Given the description of an element on the screen output the (x, y) to click on. 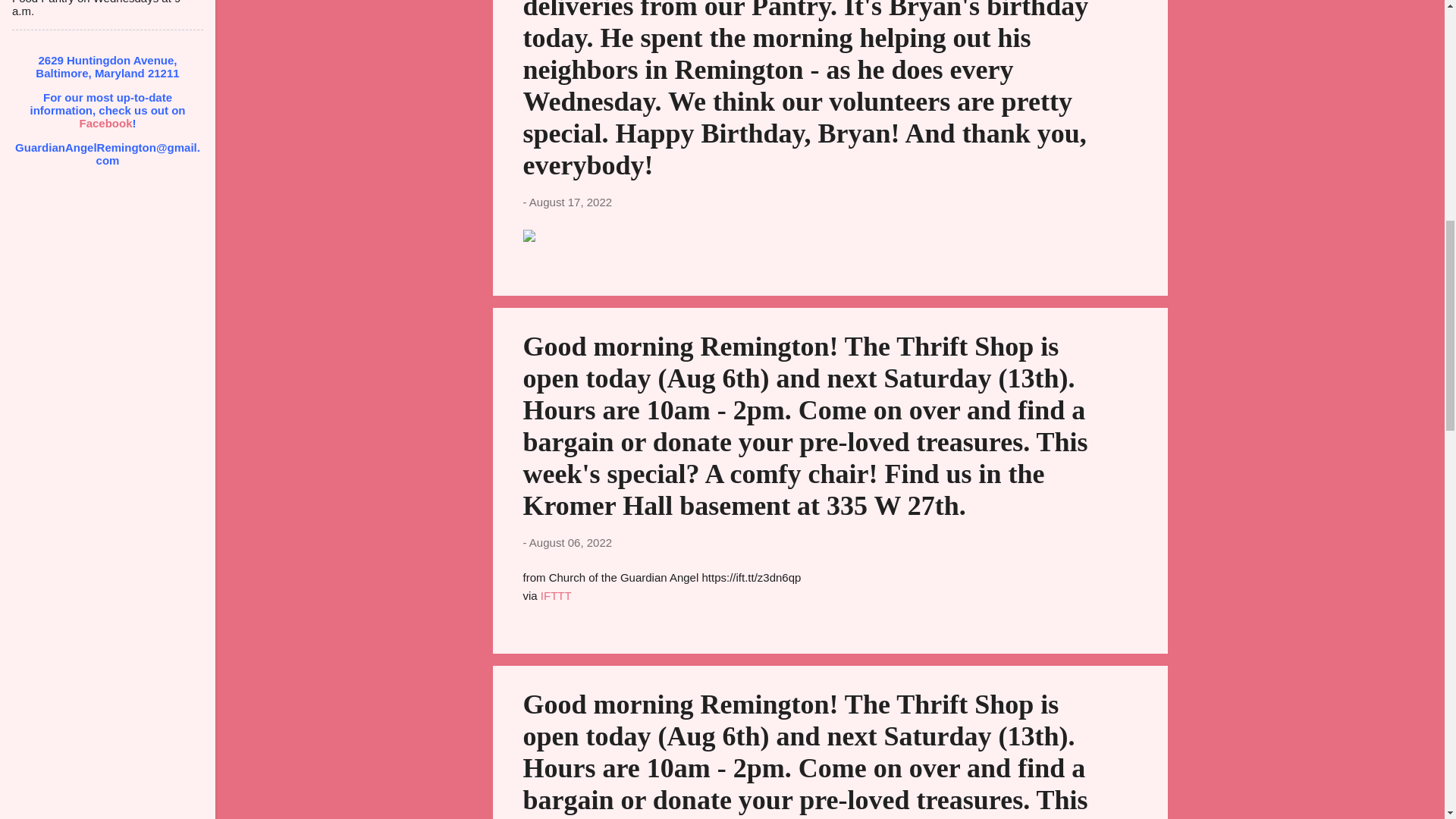
IFTTT (556, 594)
August 17, 2022 (570, 201)
permanent link (570, 201)
August 06, 2022 (570, 541)
